Given the description of an element on the screen output the (x, y) to click on. 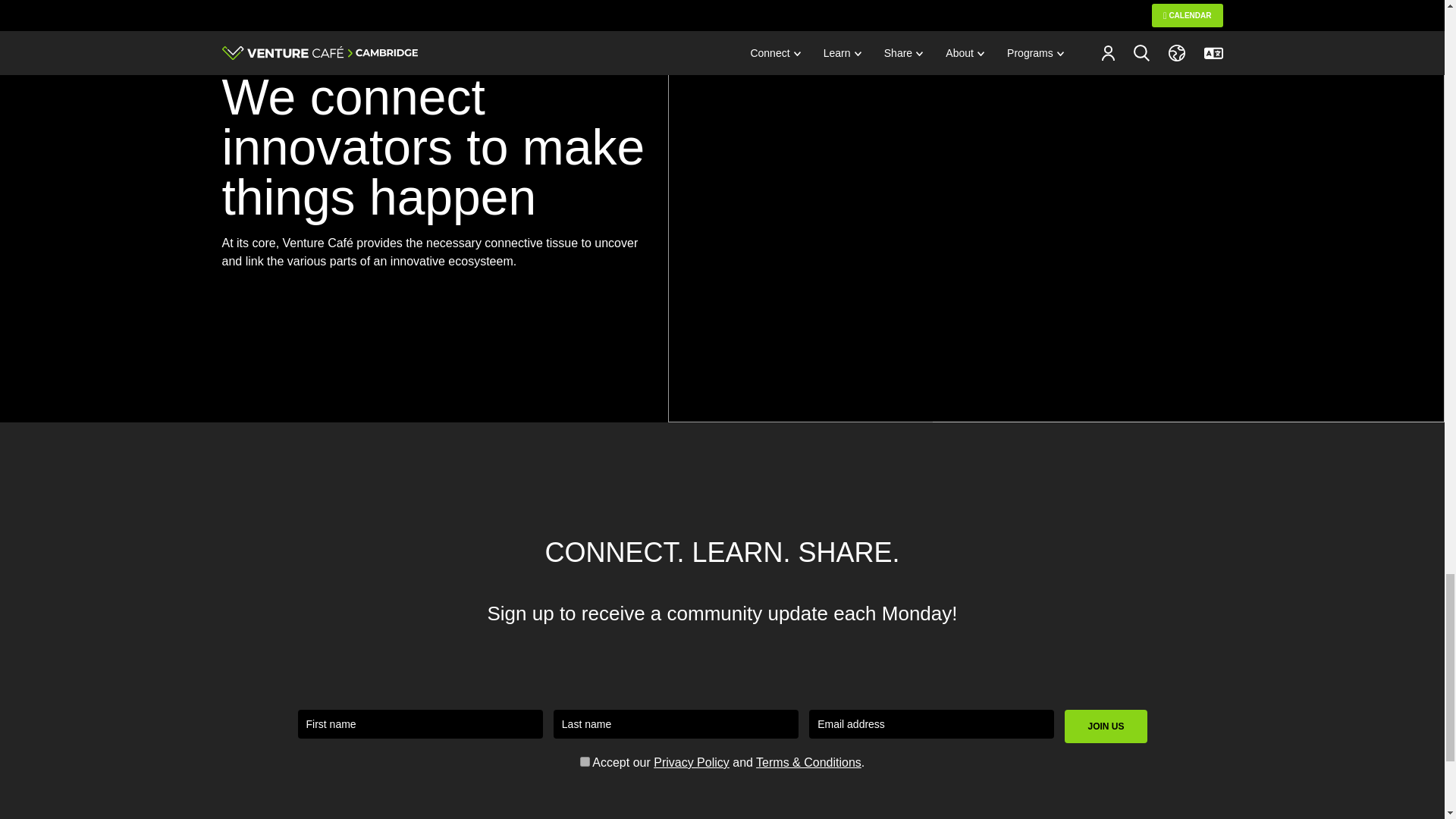
on (584, 761)
Join Us (1105, 726)
